Given the description of an element on the screen output the (x, y) to click on. 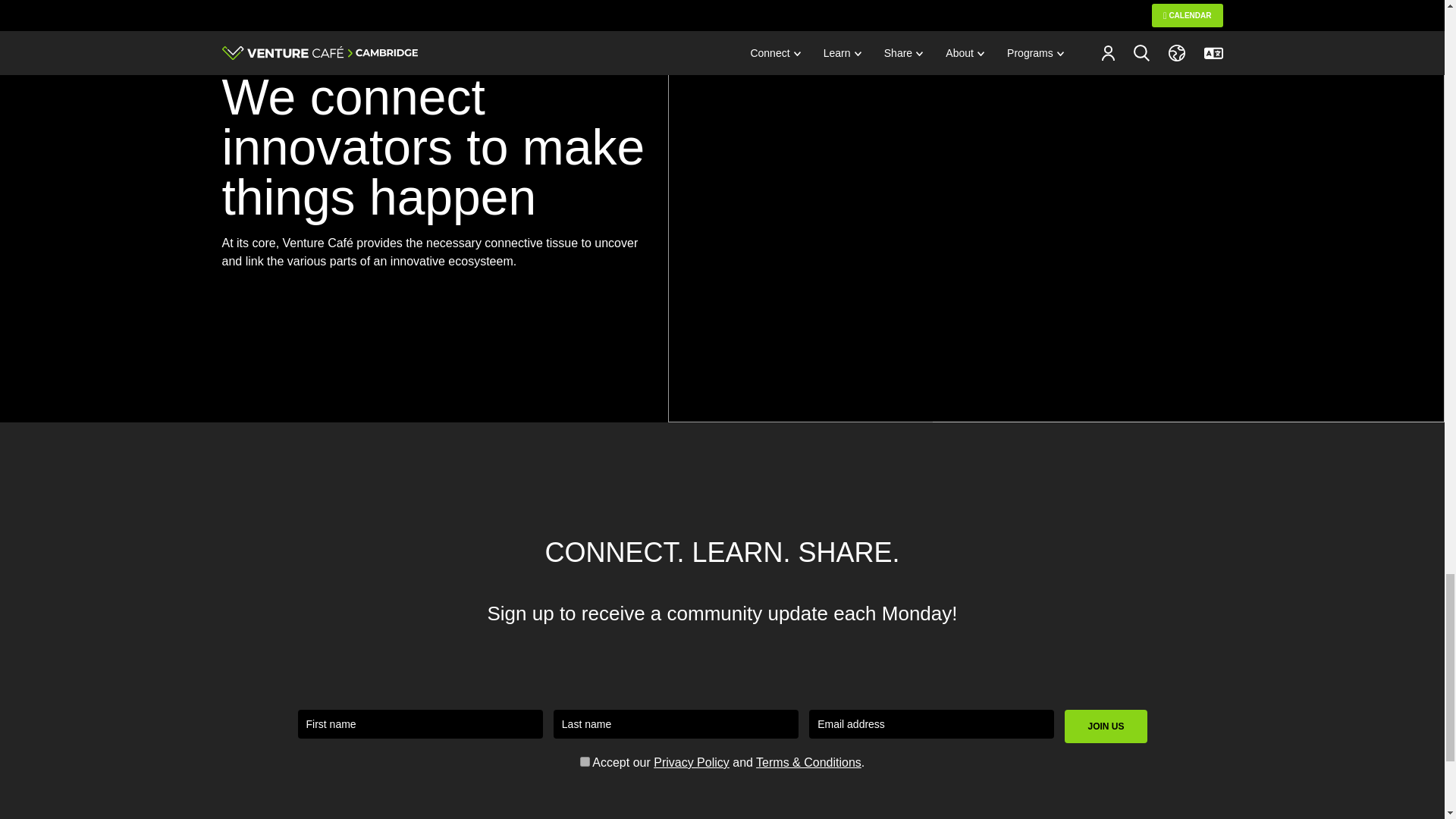
on (584, 761)
Join Us (1105, 726)
